Given the description of an element on the screen output the (x, y) to click on. 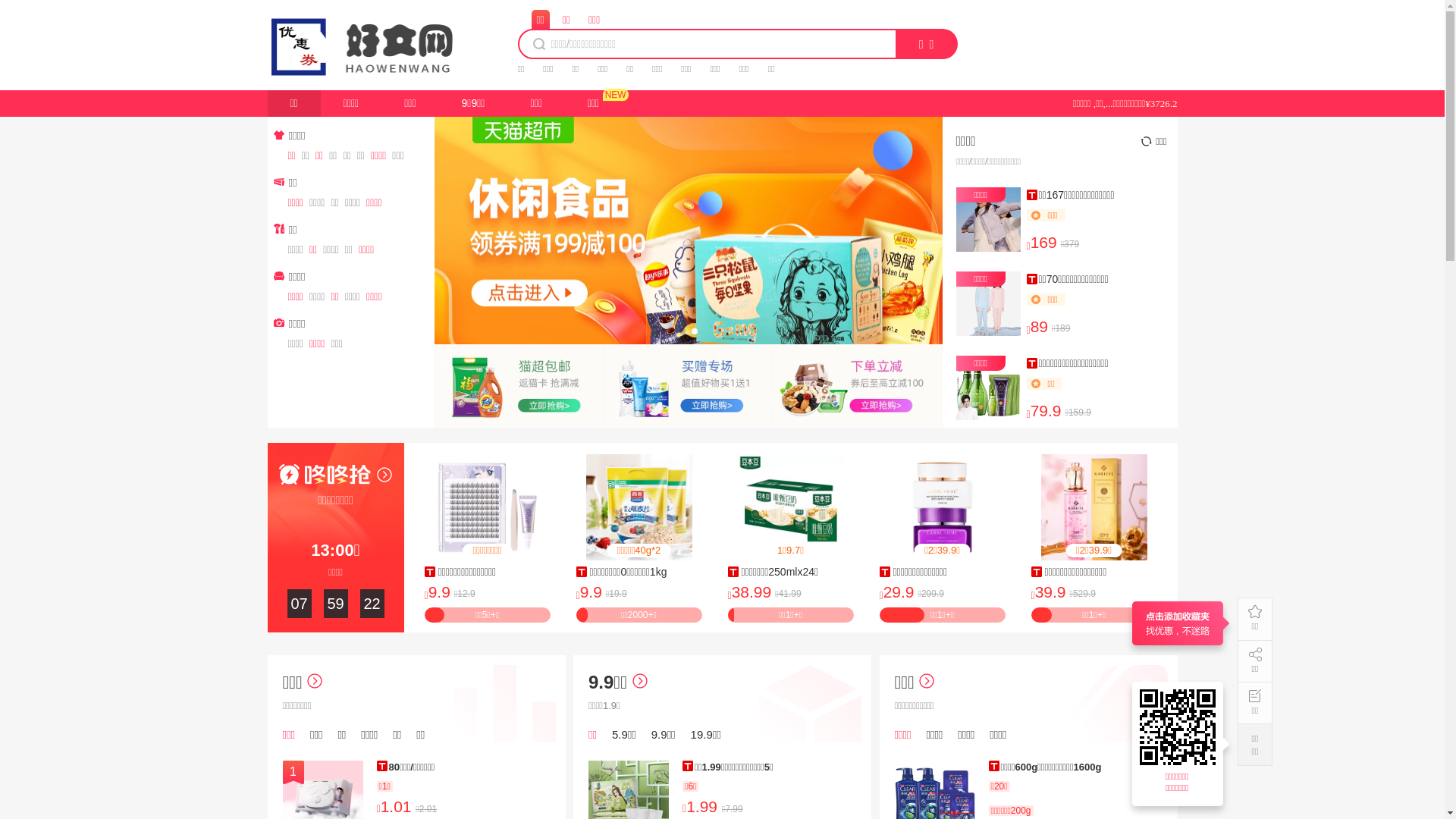
https://57soft.cc Element type: hover (1179, 727)
